Given the description of an element on the screen output the (x, y) to click on. 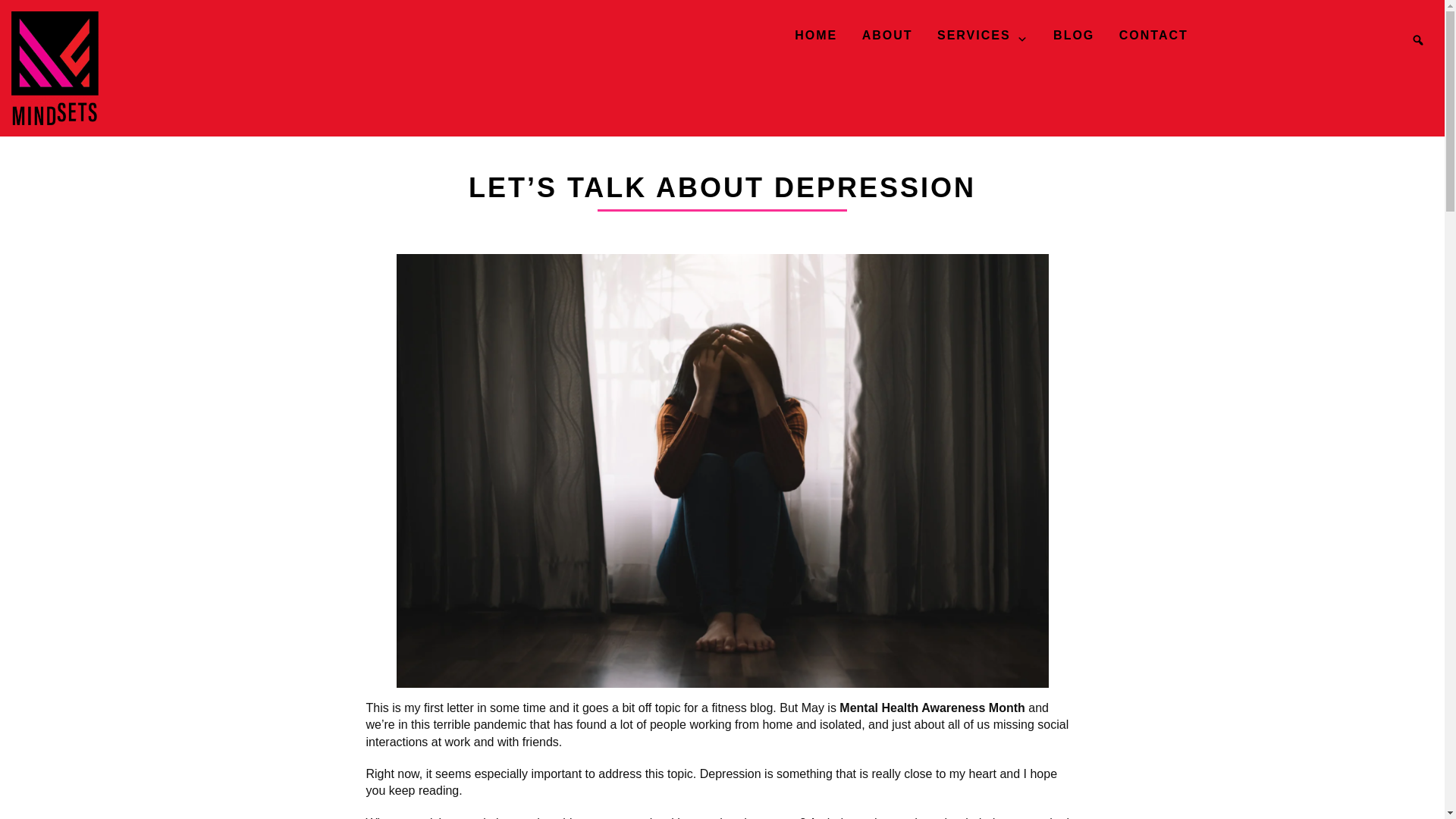
ABOUT (887, 38)
CONTACT (1153, 38)
SERVICES (982, 38)
BLOG (1073, 38)
HOME (815, 38)
MINDSETS FITNESS (79, 68)
